Given the description of an element on the screen output the (x, y) to click on. 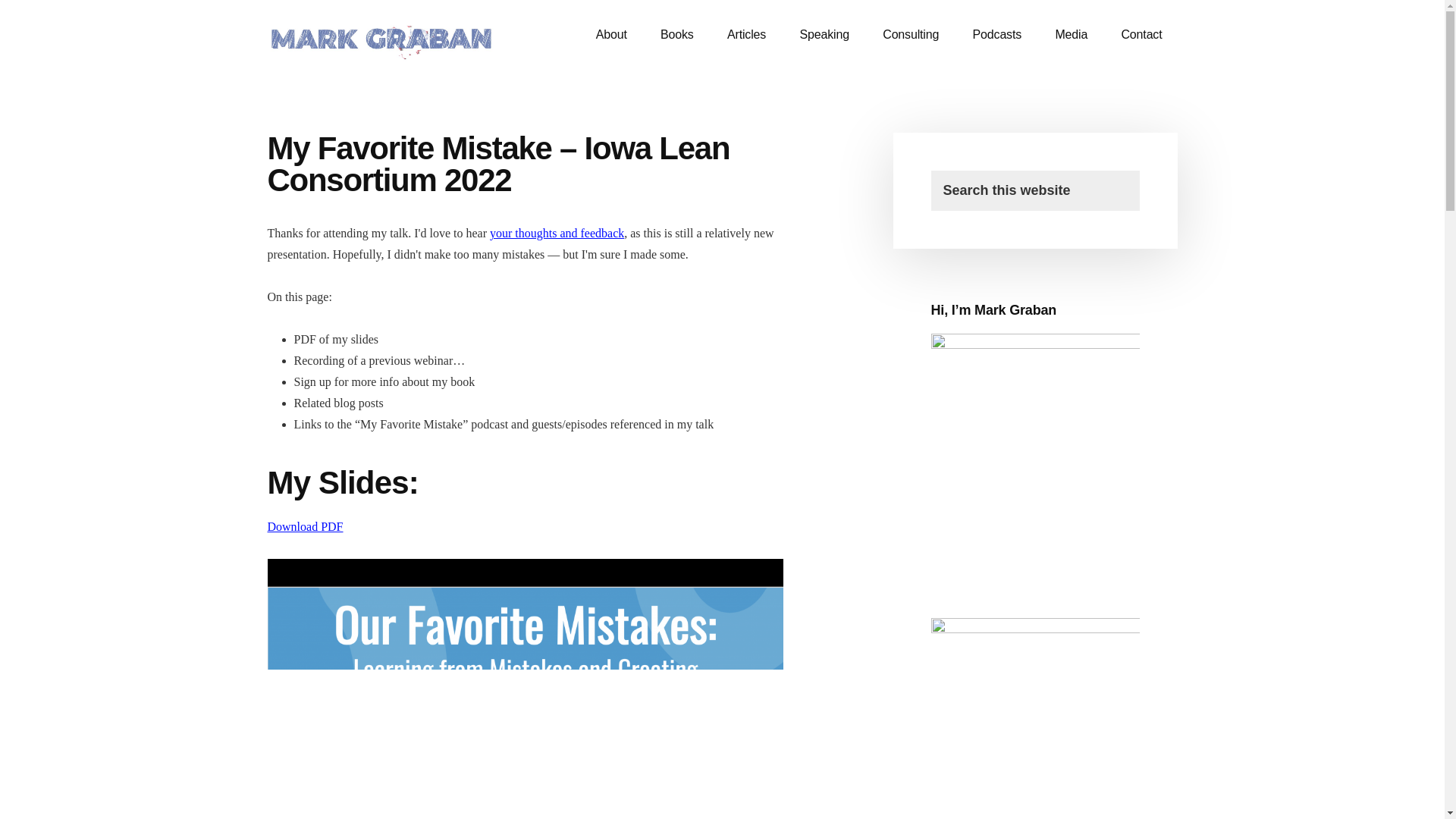
Books (677, 34)
Consulting (910, 34)
Articles (745, 34)
Podcasts (997, 34)
Speaking (823, 34)
About (611, 34)
